Given the description of an element on the screen output the (x, y) to click on. 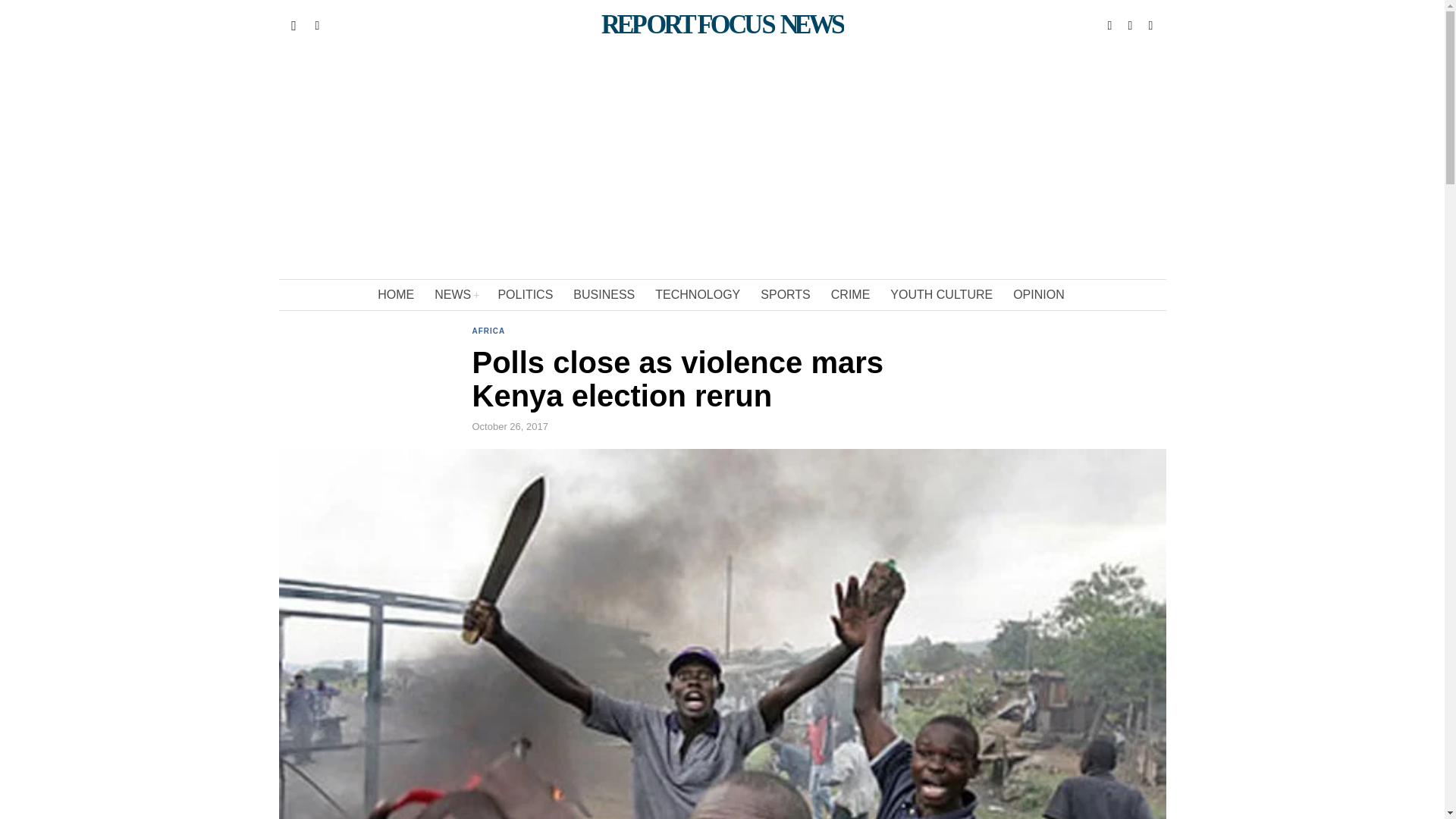
SPORTS (786, 295)
HOME (396, 295)
POLITICS (525, 295)
OPINION (1039, 295)
BUSINESS (605, 295)
NEWS (456, 295)
CRIME (852, 295)
TECHNOLOGY (698, 295)
AFRICA (488, 331)
26 Oct, 2017 21:11:09 (509, 427)
